Given the description of an element on the screen output the (x, y) to click on. 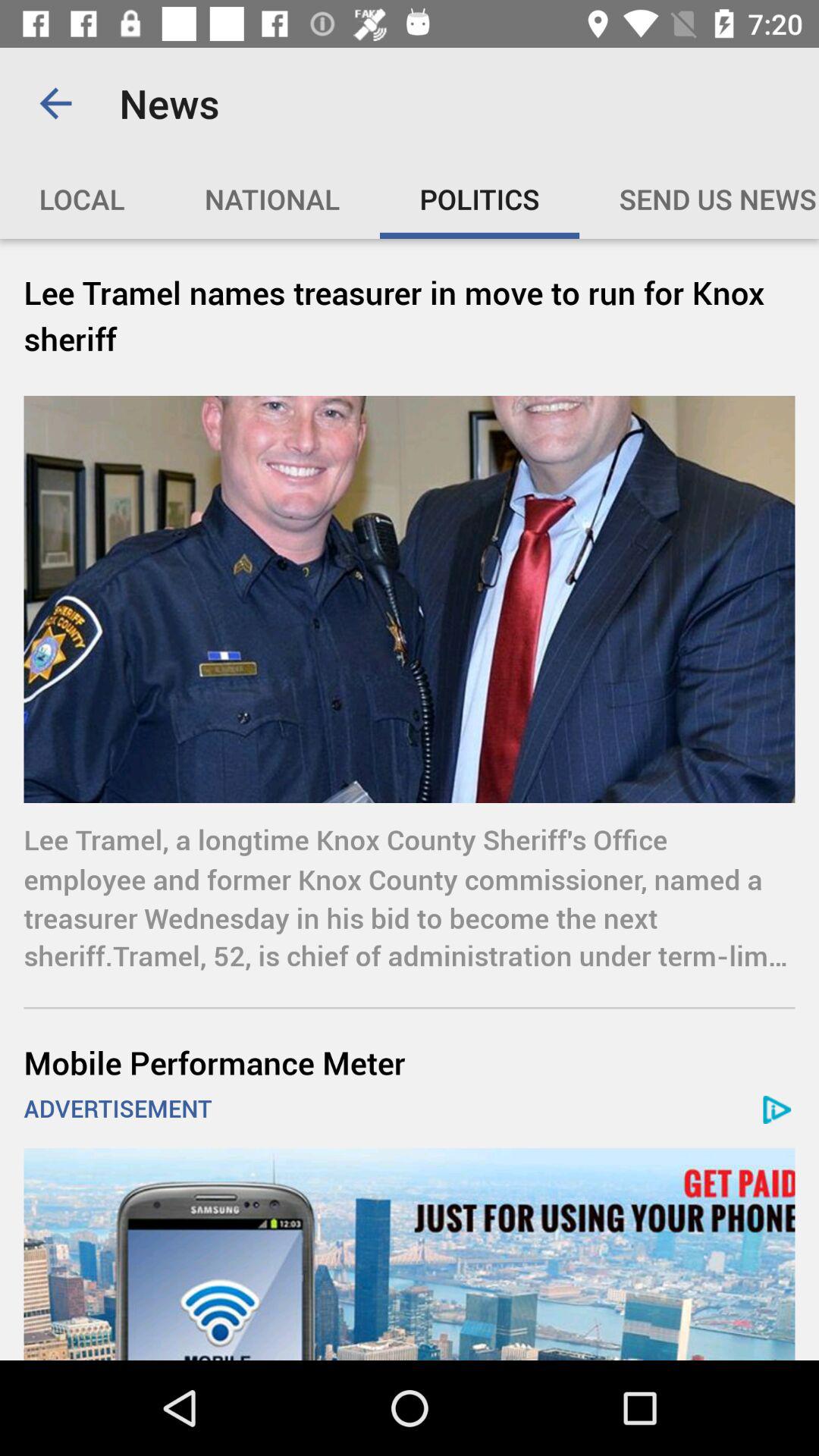
turn on mobile performance meter item (409, 1062)
